Given the description of an element on the screen output the (x, y) to click on. 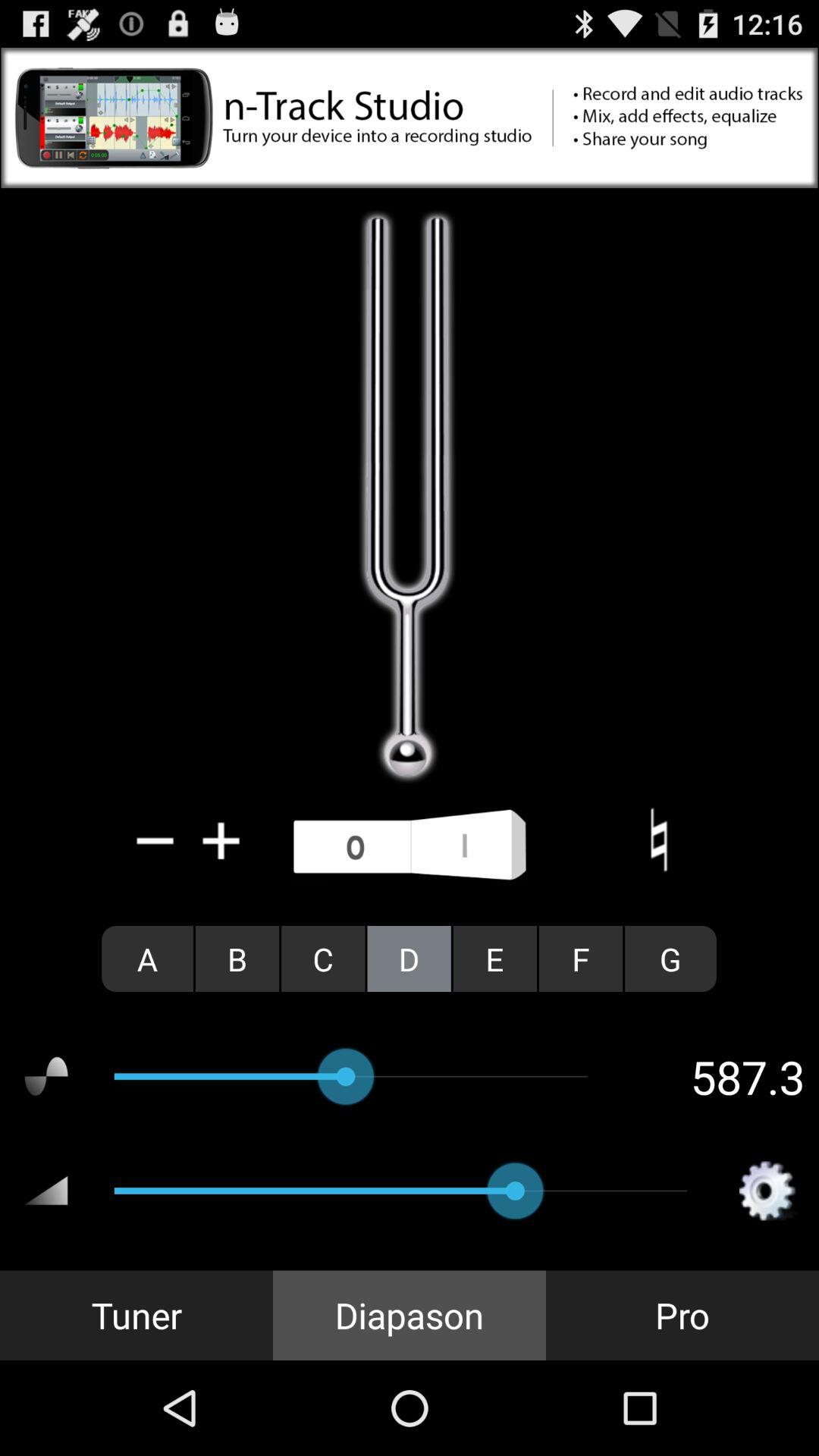
select the radio button next to the e (580, 958)
